Given the description of an element on the screen output the (x, y) to click on. 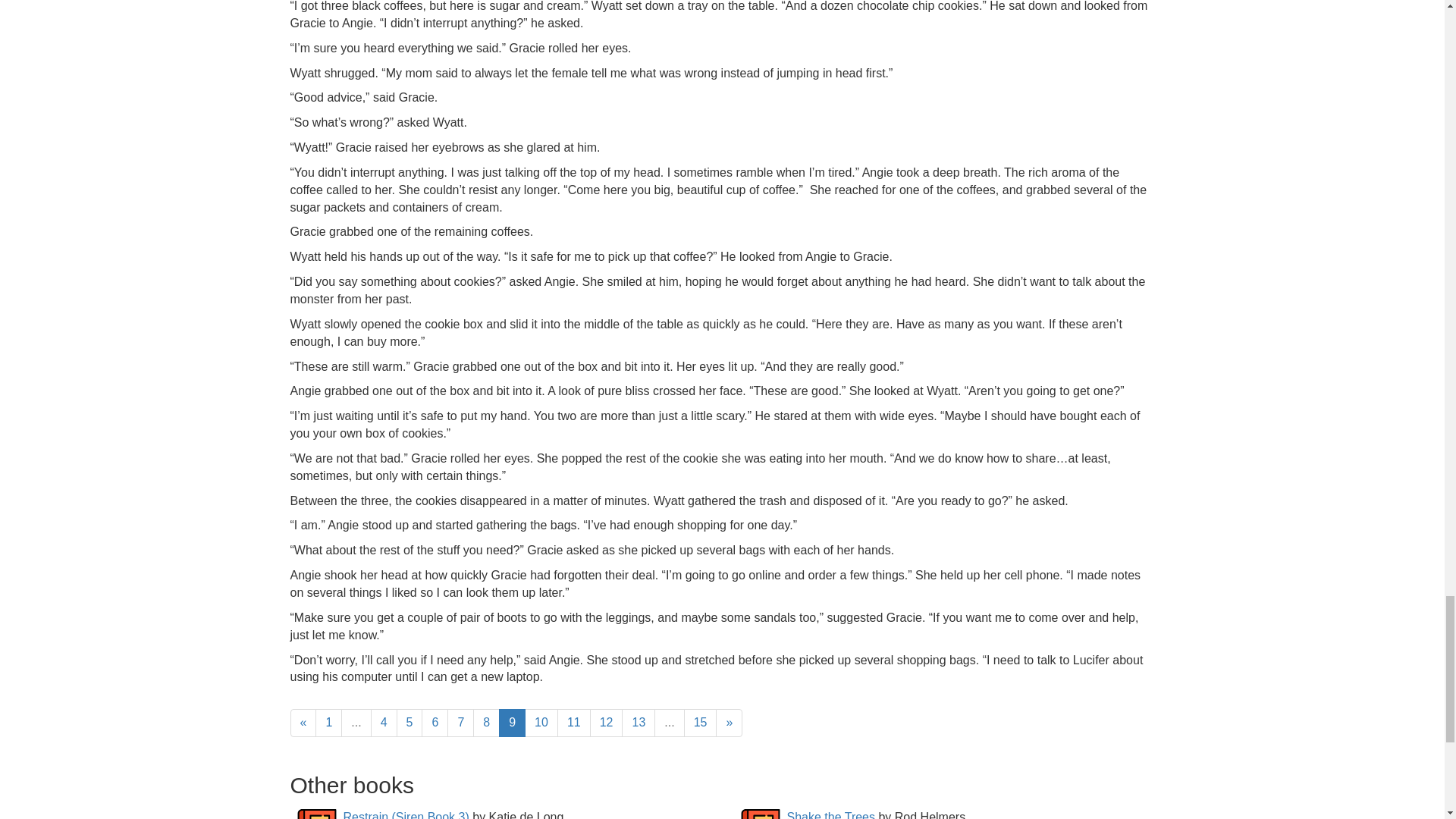
8 (486, 723)
Shake the Trees (831, 814)
5 (409, 723)
11 (574, 723)
7 (460, 723)
1 (328, 723)
12 (606, 723)
13 (638, 723)
9 (512, 723)
6 (435, 723)
